Given the description of an element on the screen output the (x, y) to click on. 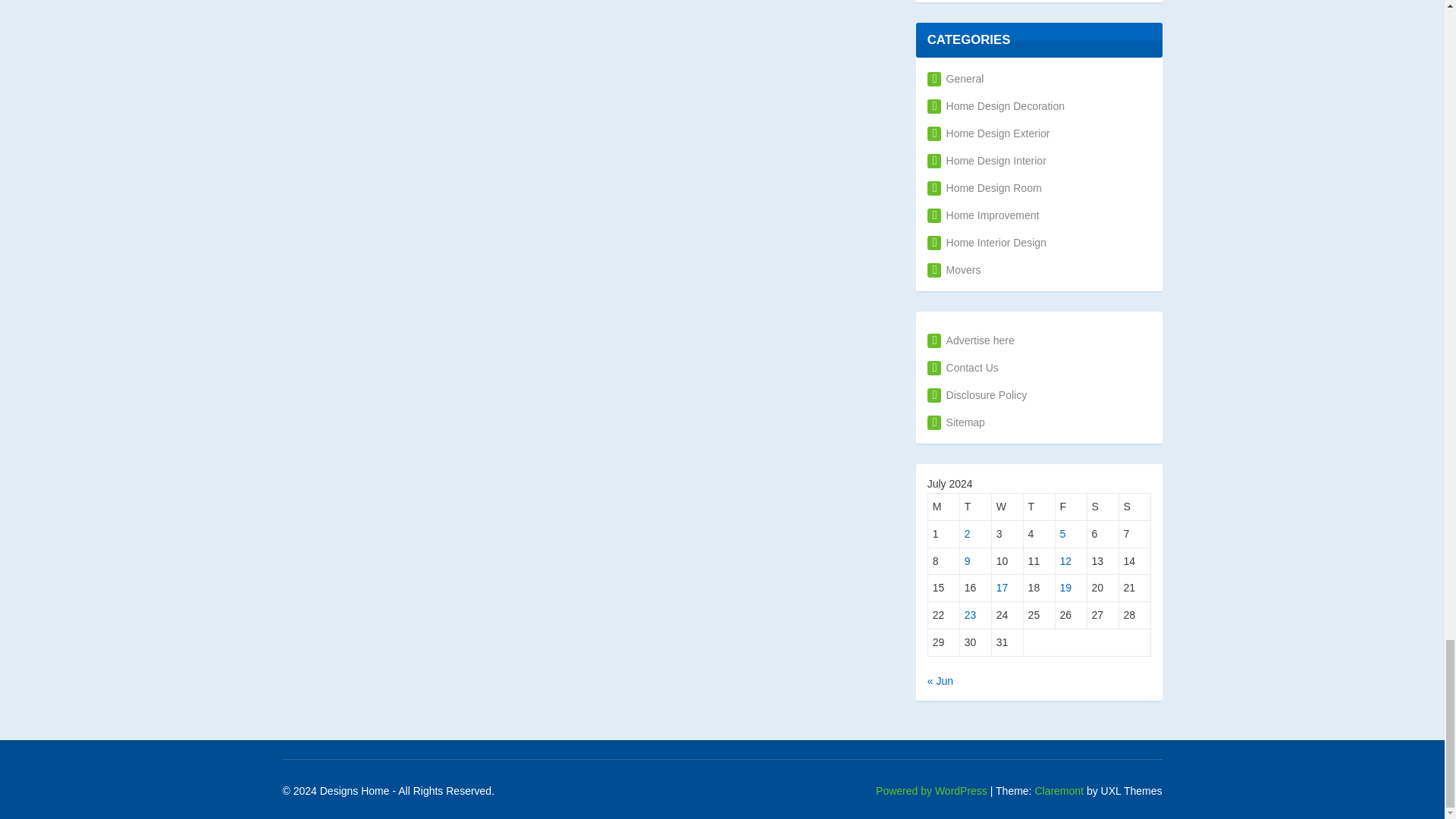
Wednesday (1007, 506)
Tuesday (975, 506)
Saturday (1103, 506)
Sunday (1135, 506)
Friday (1071, 506)
Thursday (1039, 506)
Monday (943, 506)
